Given the description of an element on the screen output the (x, y) to click on. 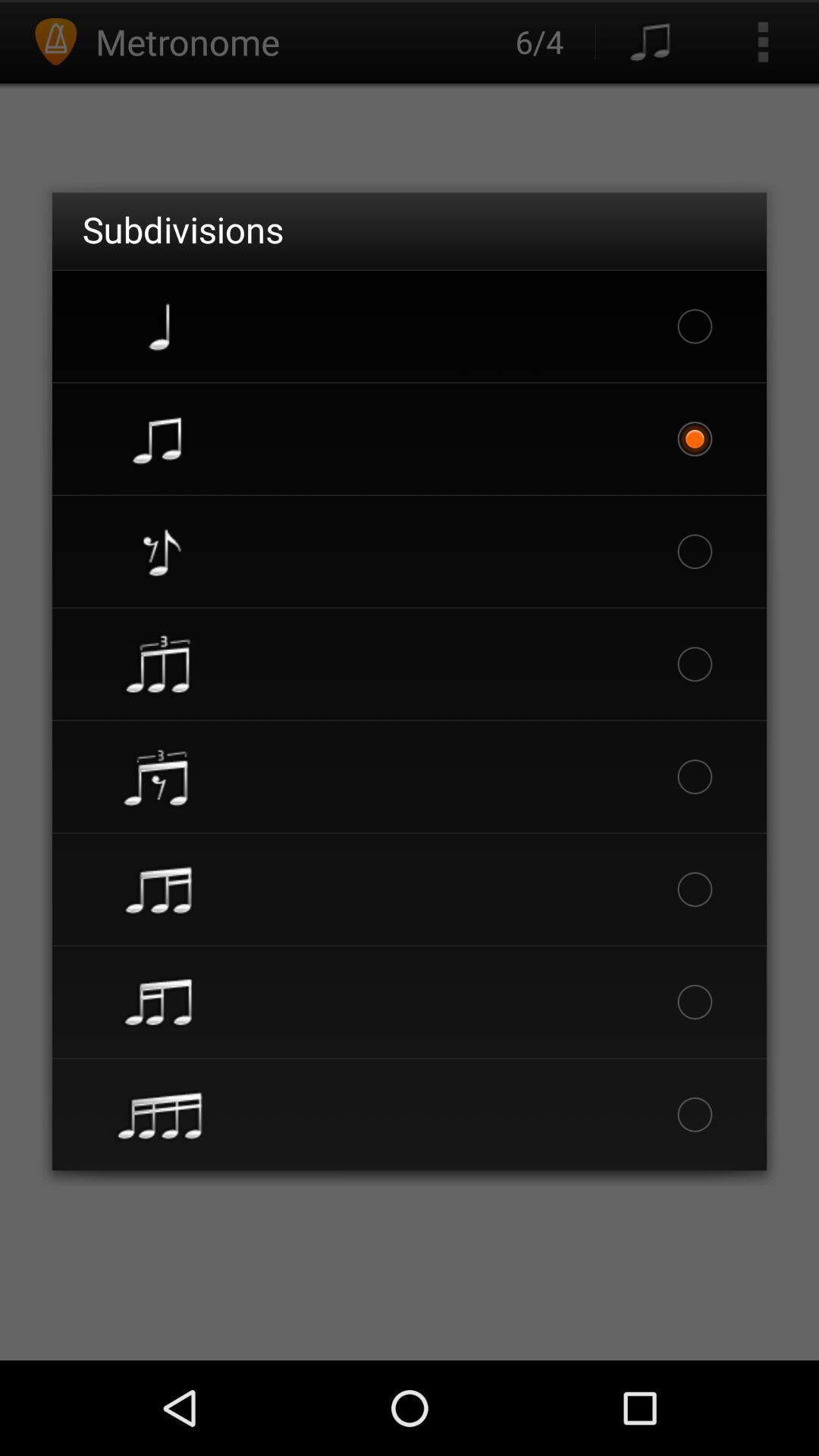
select the subdivisions (182, 229)
